Given the description of an element on the screen output the (x, y) to click on. 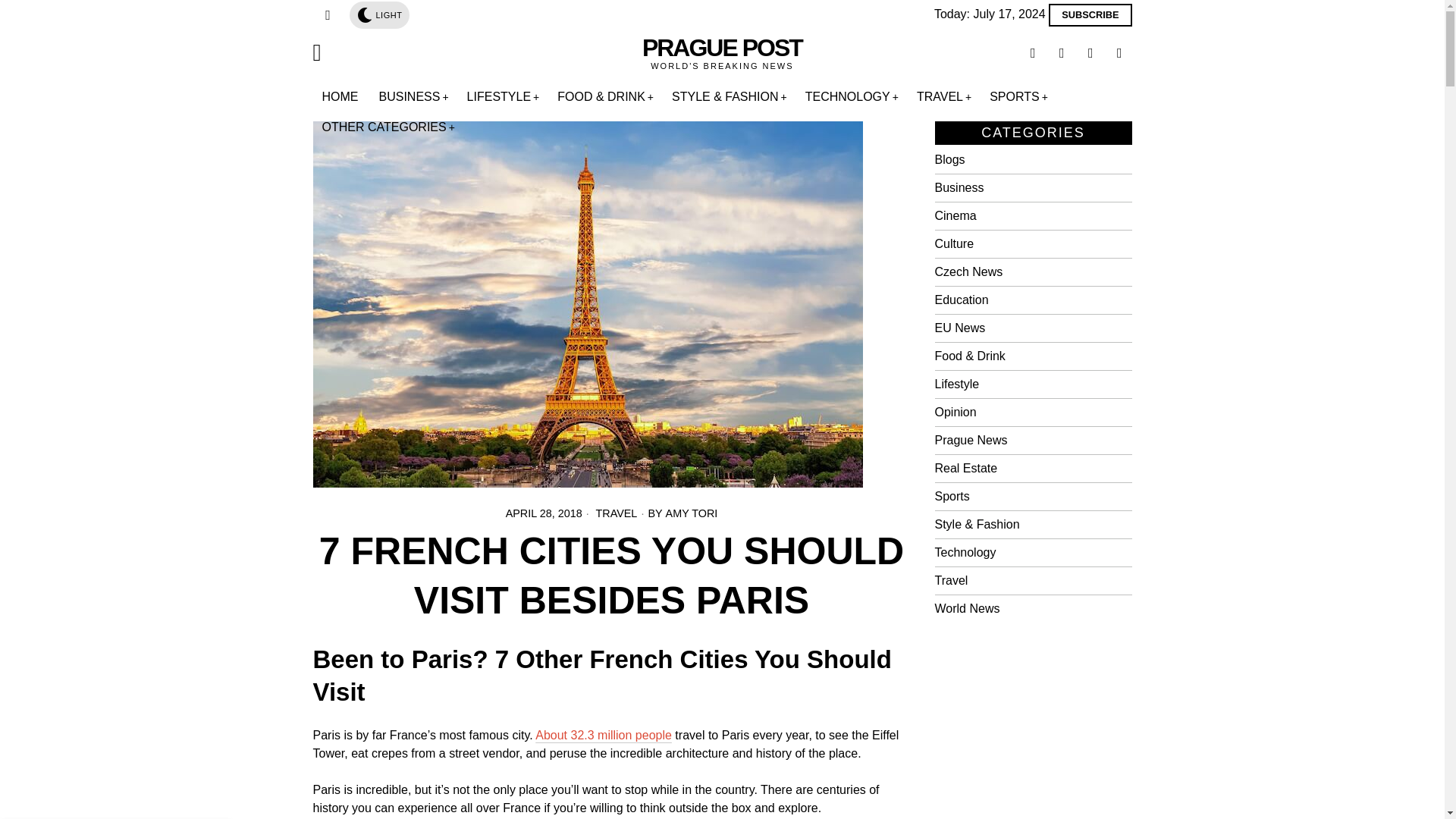
HOME (341, 96)
PRAGUE POST (722, 48)
BUSINESS (413, 96)
TECHNOLOGY (851, 96)
SUBSCRIBE (1089, 15)
28 Apr, 2018 01:09:29 (543, 512)
LIFESTYLE (503, 96)
